Given the description of an element on the screen output the (x, y) to click on. 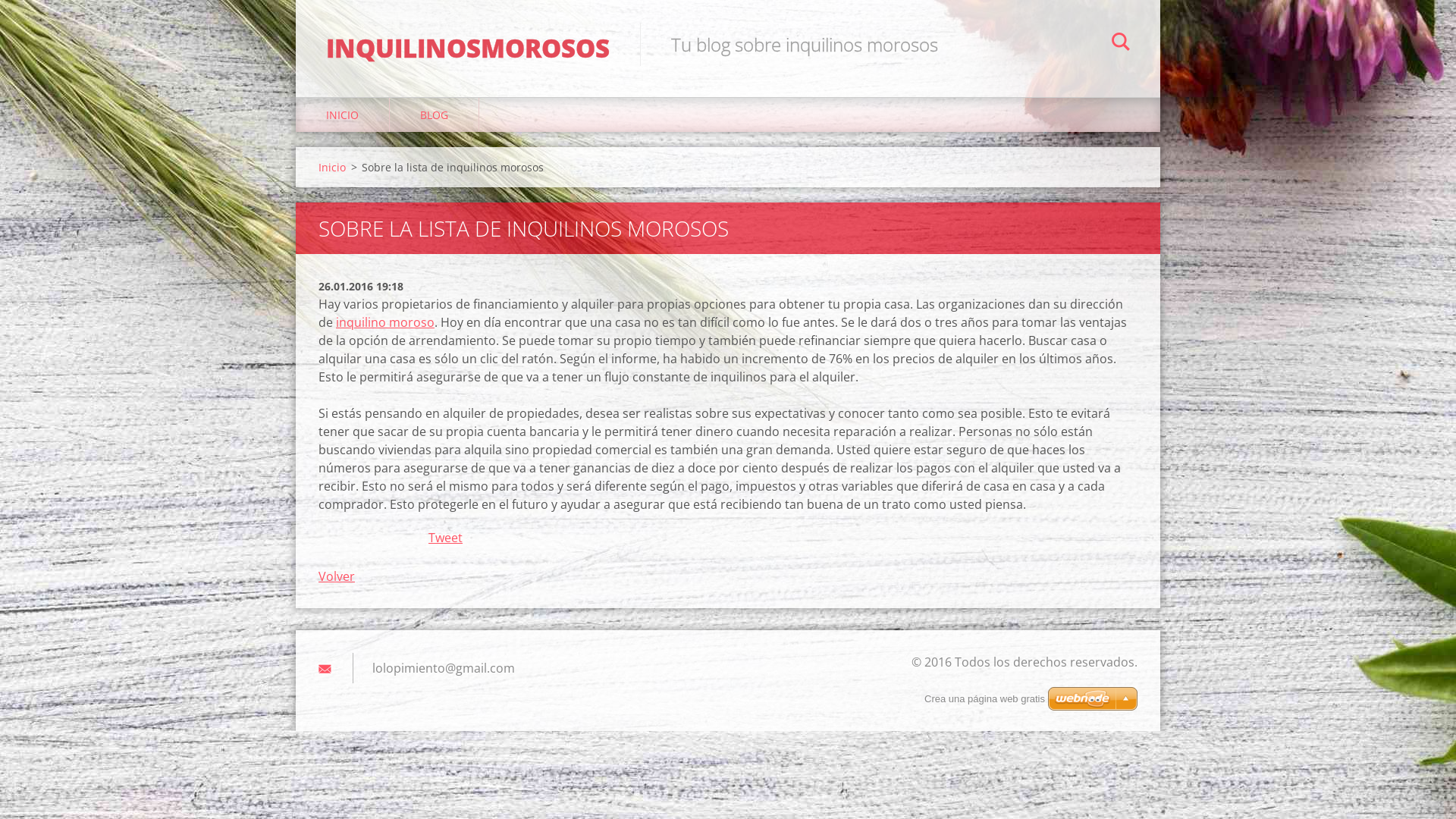
BLOG Element type: text (434, 114)
lolopimiento@gmail.com Element type: text (443, 667)
Buscar Element type: text (1120, 43)
Inicio Element type: text (331, 166)
Tweet Element type: text (445, 537)
INQUILINOSMOROSOS Element type: text (467, 33)
Volver Element type: text (336, 576)
inquilino moroso Element type: text (384, 321)
INICIO Element type: text (342, 114)
